Given the description of an element on the screen output the (x, y) to click on. 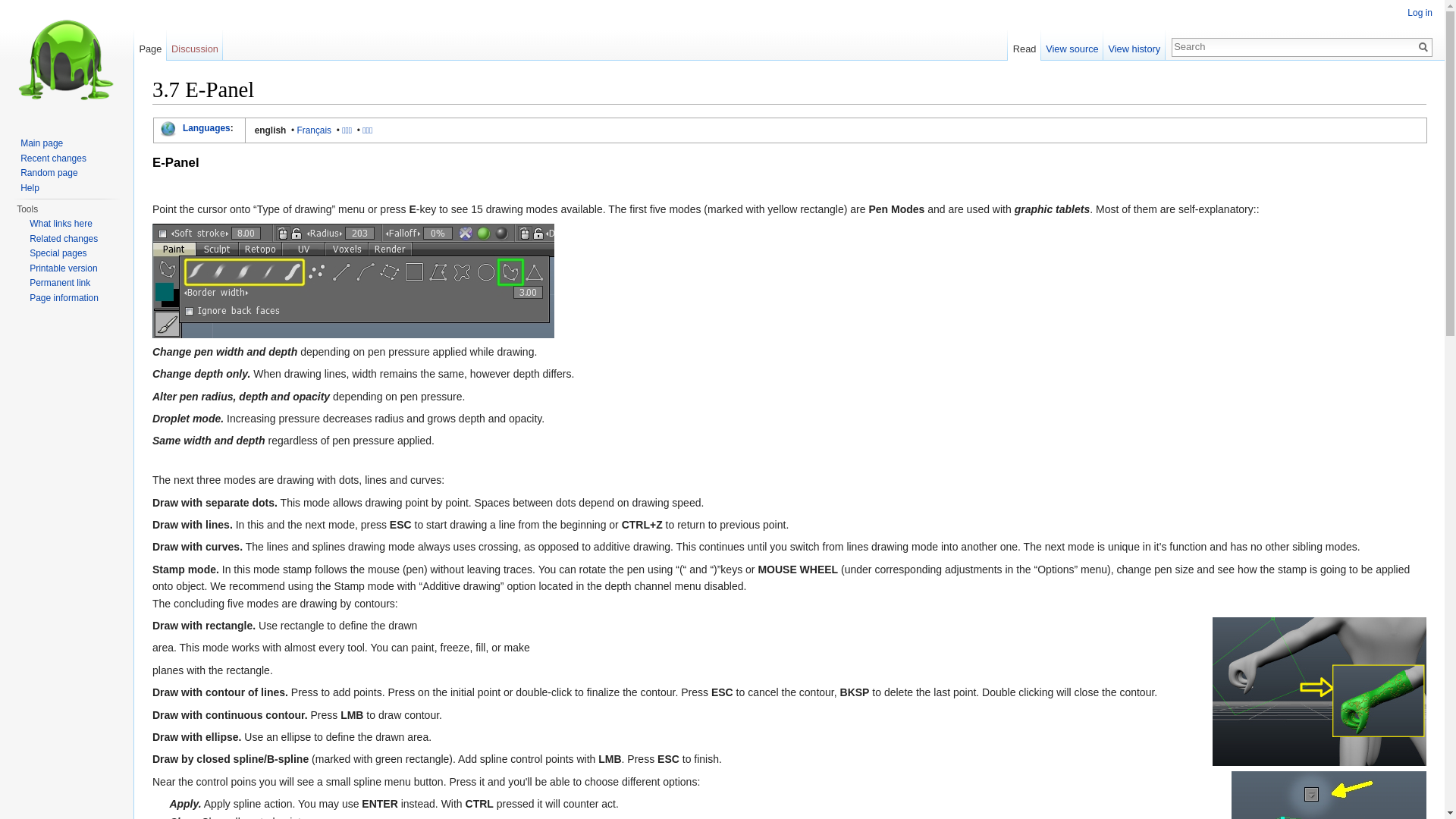
View source Element type: text (1072, 45)
What links here Element type: text (60, 223)
Help Element type: text (29, 187)
Random page Element type: text (48, 172)
Main page Element type: text (41, 143)
Page Element type: text (150, 45)
Visit the main page Element type: hover (66, 60)
Go to a page with this exact name if it exists Element type: hover (1423, 46)
Read Element type: text (1023, 45)
Discussion Element type: text (194, 45)
Permanent link Element type: text (59, 282)
Page information Element type: text (63, 297)
Recent changes Element type: text (53, 158)
Related changes Element type: text (63, 238)
Printable version Element type: text (63, 267)
Search 3D-Coat Wiki [alt-shift-f] Element type: hover (1293, 45)
Special pages Element type: text (57, 252)
Go Element type: text (1423, 46)
View history Element type: text (1134, 45)
Log in Element type: text (1419, 12)
Languages Element type: text (206, 127)
